Given the description of an element on the screen output the (x, y) to click on. 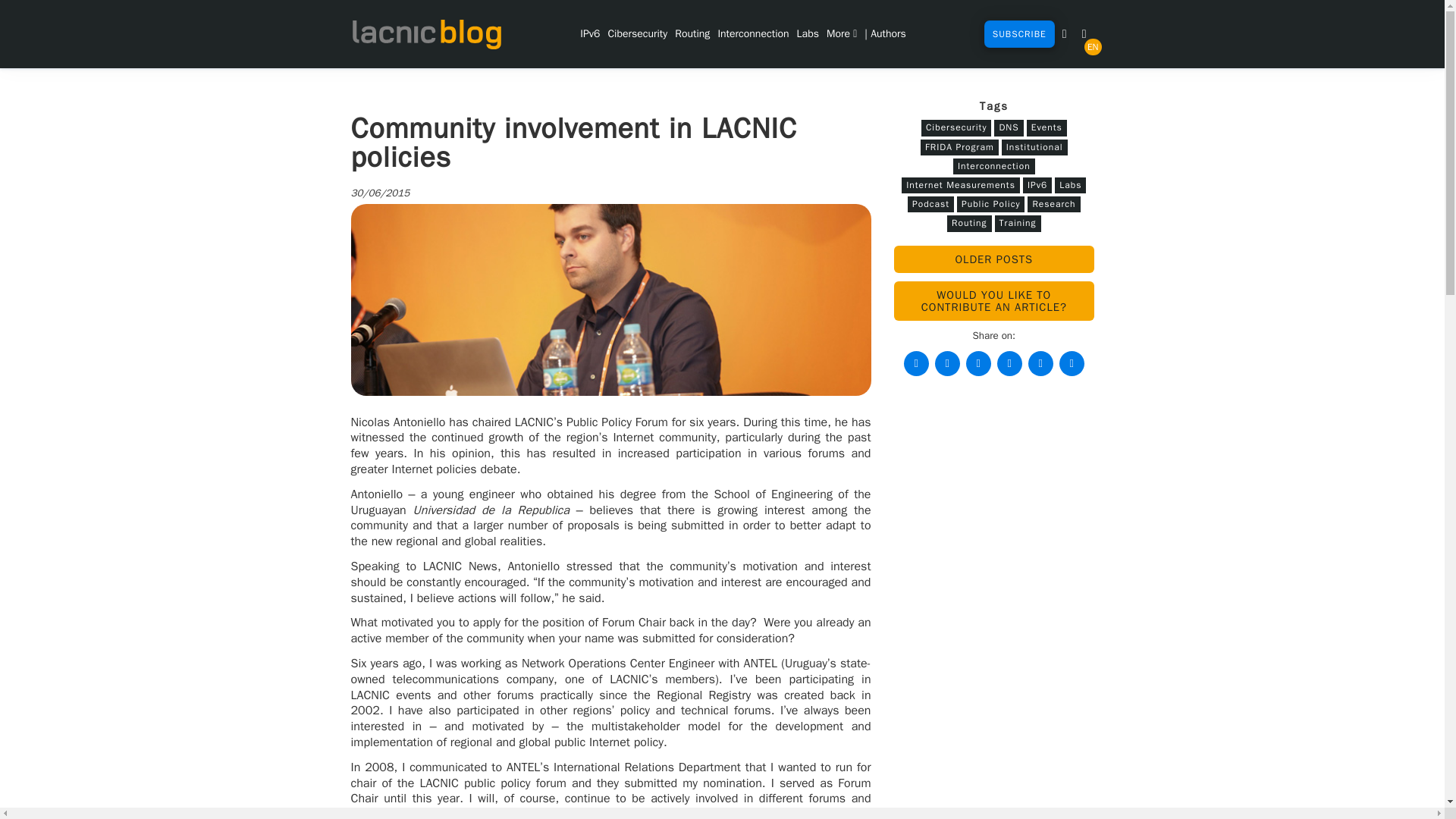
Routing (692, 33)
IPv6 (590, 33)
Cibersecurity (637, 33)
Interconnection (752, 33)
More (841, 33)
Labs (807, 33)
